Given the description of an element on the screen output the (x, y) to click on. 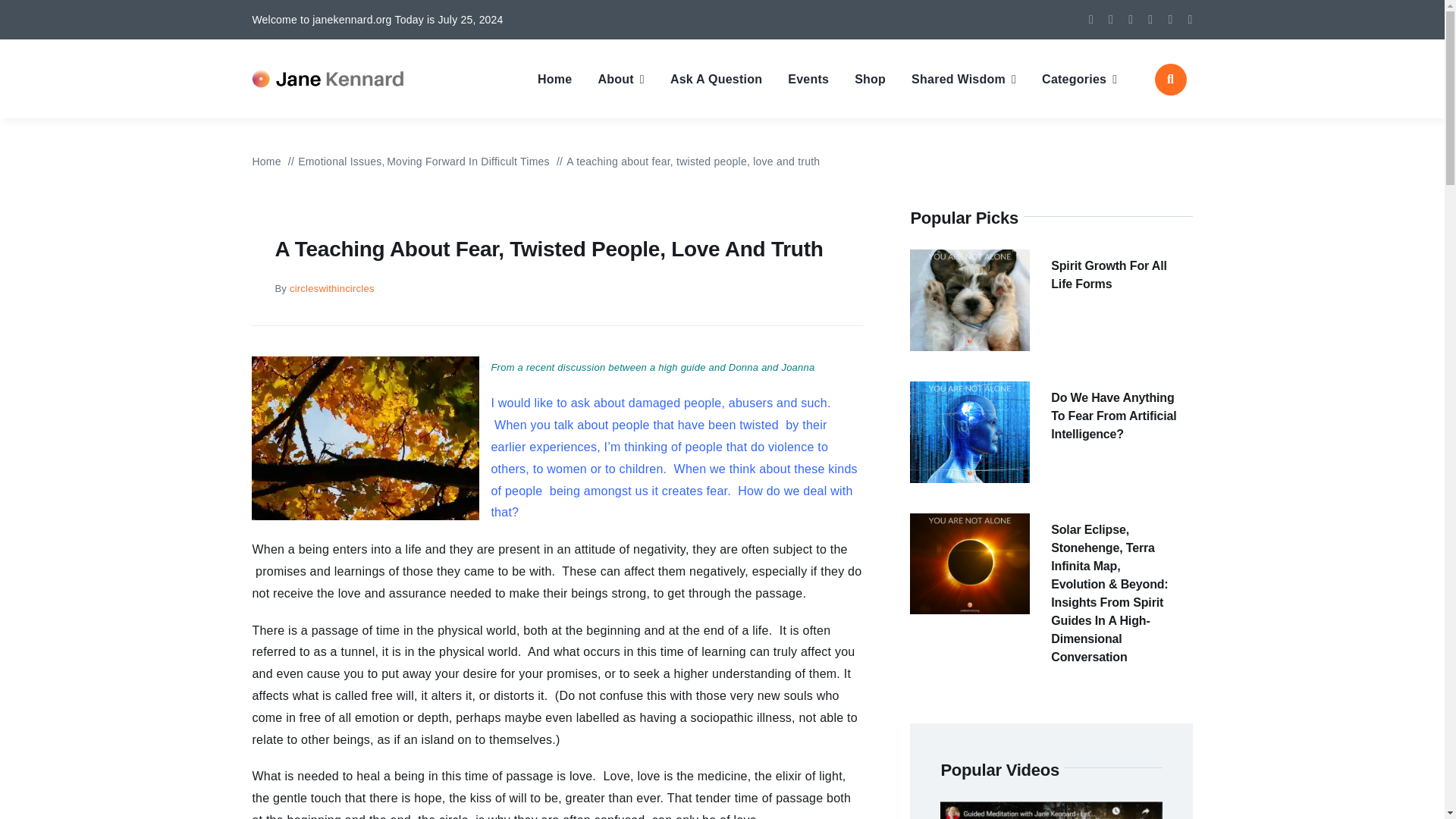
Ask A Question (715, 78)
About (620, 78)
Shared Wisdom (963, 78)
Posts by circleswithincircles (331, 288)
Categories (1079, 78)
